Given the description of an element on the screen output the (x, y) to click on. 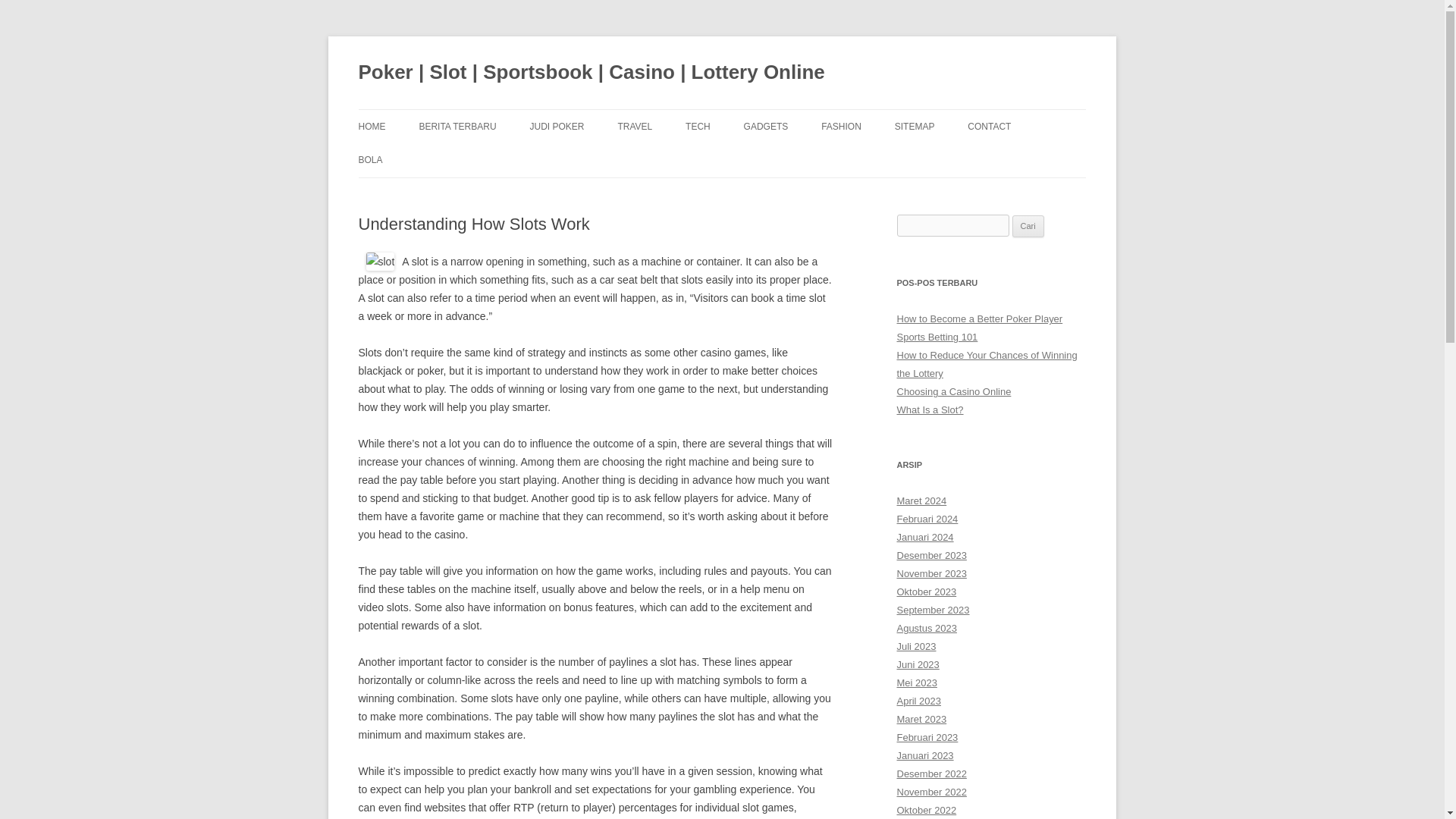
April 2023 (918, 700)
BERITA TERBARU (457, 126)
SITEMAP (914, 126)
Februari 2024 (927, 518)
September 2023 (932, 609)
Cari (1027, 226)
Cari (1027, 226)
Januari 2024 (924, 536)
Februari 2023 (927, 737)
CONTACT (989, 126)
Agustus 2023 (926, 627)
Desember 2023 (931, 555)
What Is a Slot? (929, 409)
FASHION (841, 126)
Juni 2023 (917, 664)
